Given the description of an element on the screen output the (x, y) to click on. 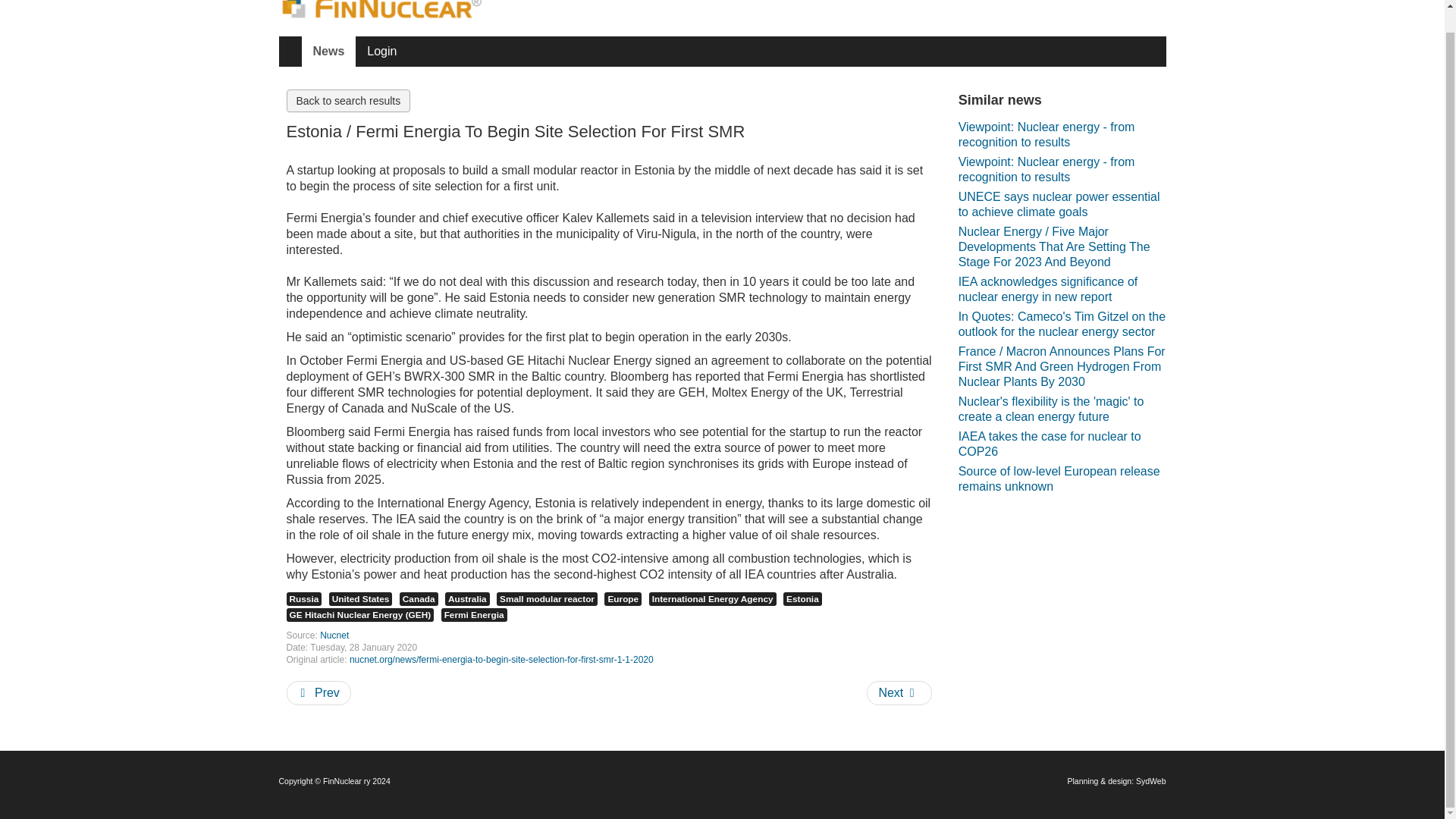
Fermi Energia (473, 614)
Viewpoint: Nuclear energy - from recognition to results (1062, 169)
Viewpoint: Nuclear energy - from recognition to results (1062, 134)
Europe (623, 599)
Australia (467, 599)
Nucnet (334, 634)
Source of low-level European release remains unknown (1062, 478)
IAEA takes the case for nuclear to COP26 (1062, 443)
Prev (318, 692)
Next (898, 692)
United States (361, 599)
SydWeb (1150, 780)
Small modular reactor (546, 599)
